Given the description of an element on the screen output the (x, y) to click on. 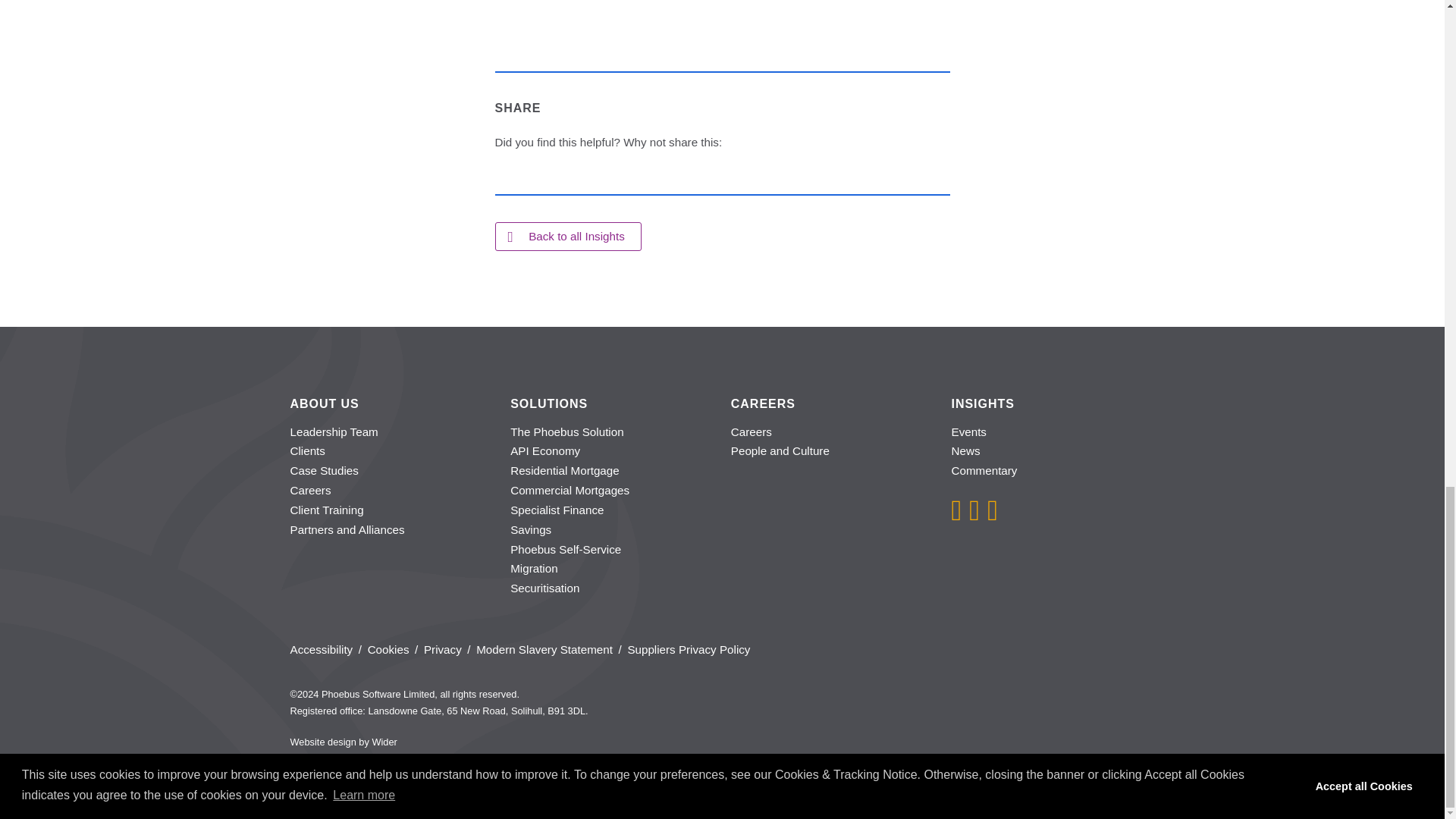
View on on Google Maps (476, 710)
View all Phoebus Insights (567, 235)
